Given the description of an element on the screen output the (x, y) to click on. 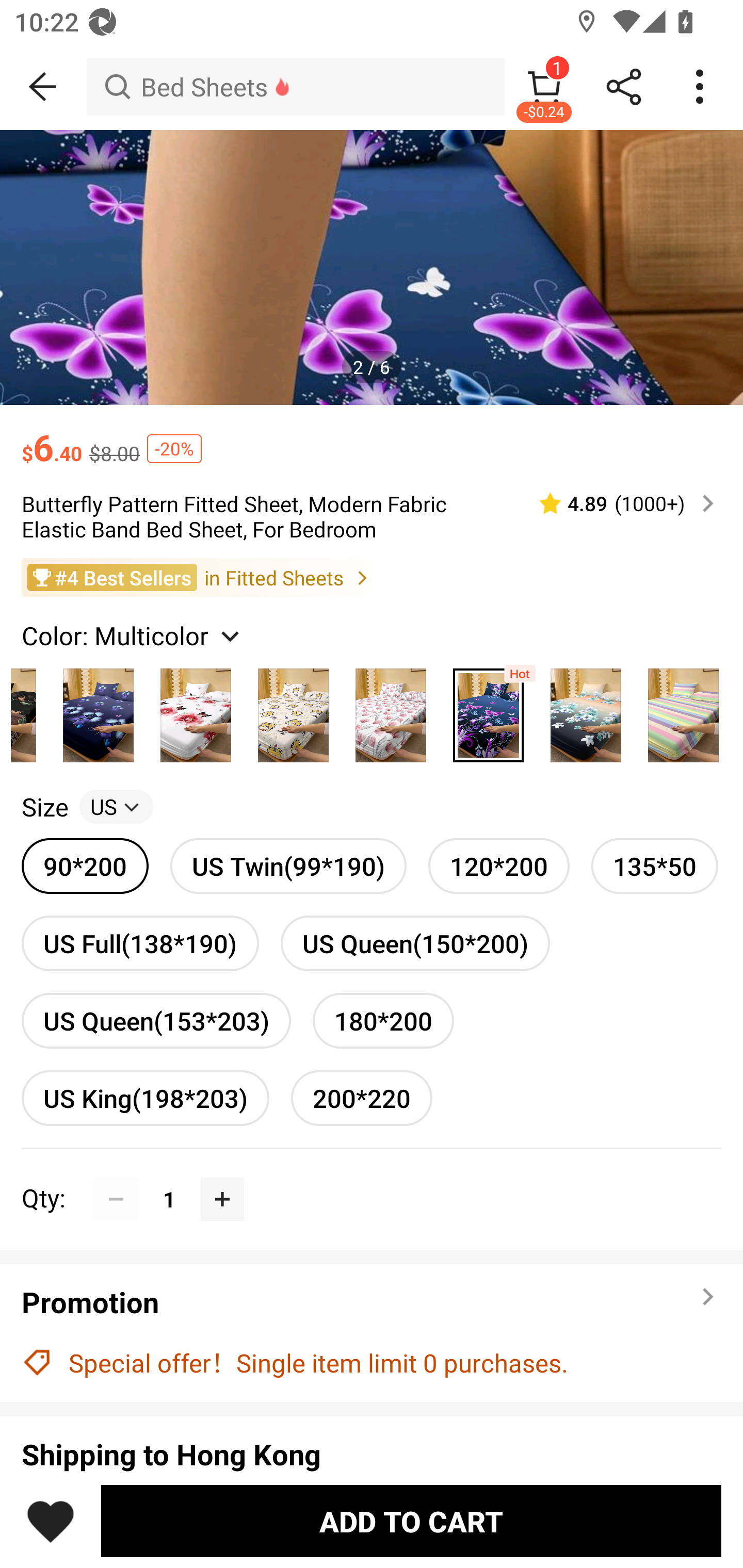
BACK (43, 86)
1 -$0.24 (543, 87)
Bed Sheets (295, 87)
PHOTOS 2 / 6 (371, 267)
2 / 6 (371, 366)
$6.40 $8.00 -20% (371, 437)
4.89 (1000‎+) (617, 503)
#4 Best Sellers in Fitted Sheets (371, 577)
Color: Multicolor (132, 634)
Multicolor (98, 710)
Multicolor (195, 710)
Multicolor (292, 710)
Multicolor (390, 710)
Multicolor (488, 710)
Multicolor (585, 710)
Multicolor (682, 710)
Size (44, 806)
US (116, 806)
90*200 90*200selected option (84, 865)
US Twin(99*190) US Twin(99*190)unselected option (288, 865)
120*200 120*200unselected option (498, 865)
135*50 135*50unselected option (654, 865)
US Full(138*190) US Full(138*190)unselected option (140, 942)
180*200 180*200unselected option (382, 1020)
US King(198*203) US King(198*203)unselected option (144, 1097)
200*220 200*220unselected option (361, 1097)
Qty: 1 (371, 1177)
Shipping to Hong Kong (371, 1453)
ADD TO CART (411, 1520)
Saved (50, 1520)
